Given the description of an element on the screen output the (x, y) to click on. 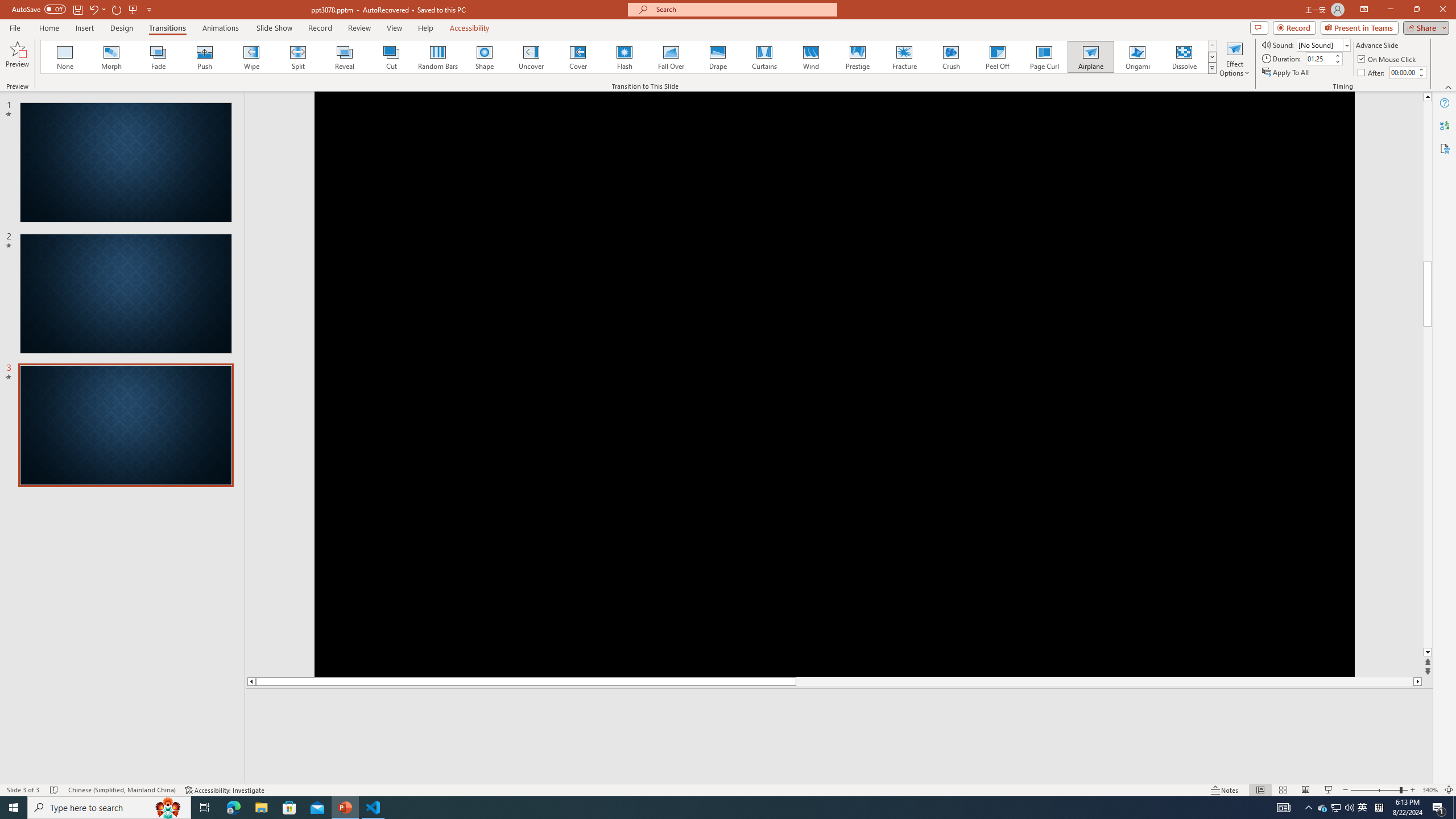
Cover (577, 56)
